Given the description of an element on the screen output the (x, y) to click on. 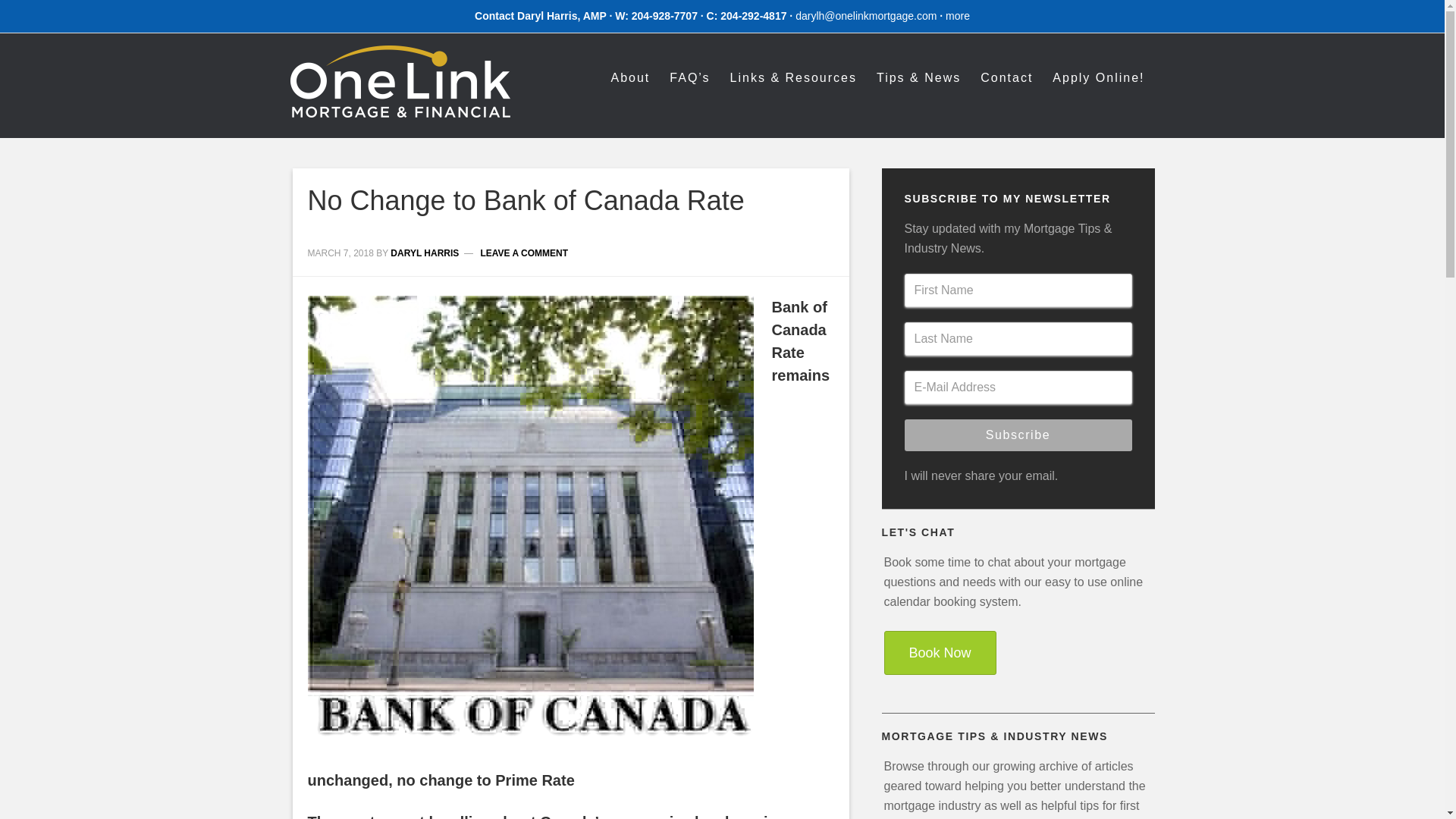
more (956, 15)
Subscribe (1017, 435)
Contact (1006, 77)
Winnipegs Best Mortgage (399, 105)
DARYL HARRIS (424, 253)
Book Now (939, 652)
Apply Online! (1098, 77)
About Daryl Harris, AMP (629, 77)
About (629, 77)
Online Mortgage Application (1098, 77)
Book Now (939, 652)
Subscribe (1017, 435)
Winnipegs Best Mortgage (399, 81)
LEAVE A COMMENT (523, 253)
